Given the description of an element on the screen output the (x, y) to click on. 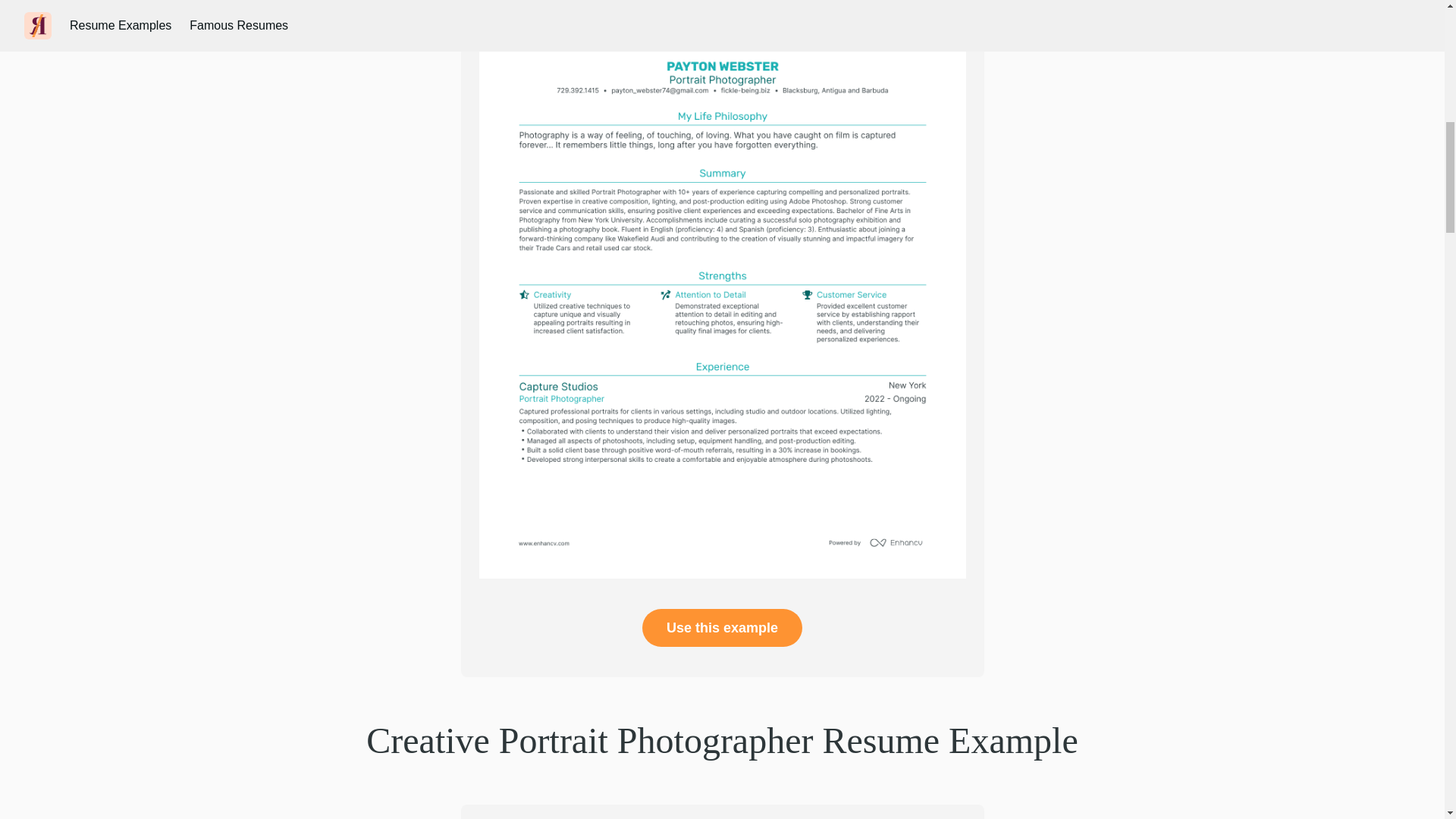
Use this example (722, 628)
